Given the description of an element on the screen output the (x, y) to click on. 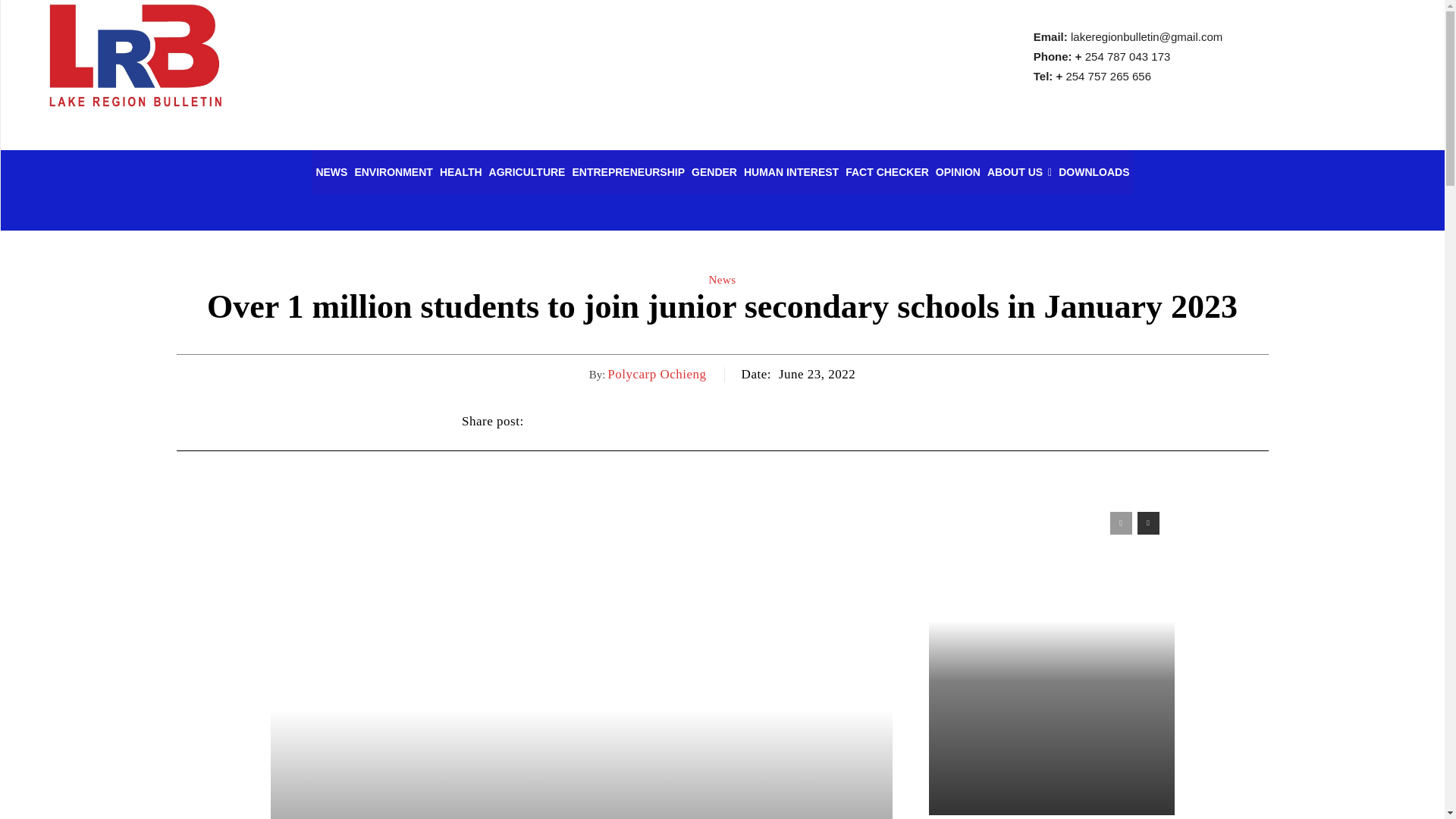
GENDER (714, 171)
AGRICULTURE (526, 171)
FACT CHECKER (887, 171)
OPINION (957, 171)
ENVIRONMENT (392, 171)
ABOUT US (1019, 171)
ENTREPRENEURSHIP (627, 171)
HUMAN INTEREST (791, 171)
Initiative trains 40 women on how to turn waste into money (1051, 514)
NEWS (330, 171)
